Given the description of an element on the screen output the (x, y) to click on. 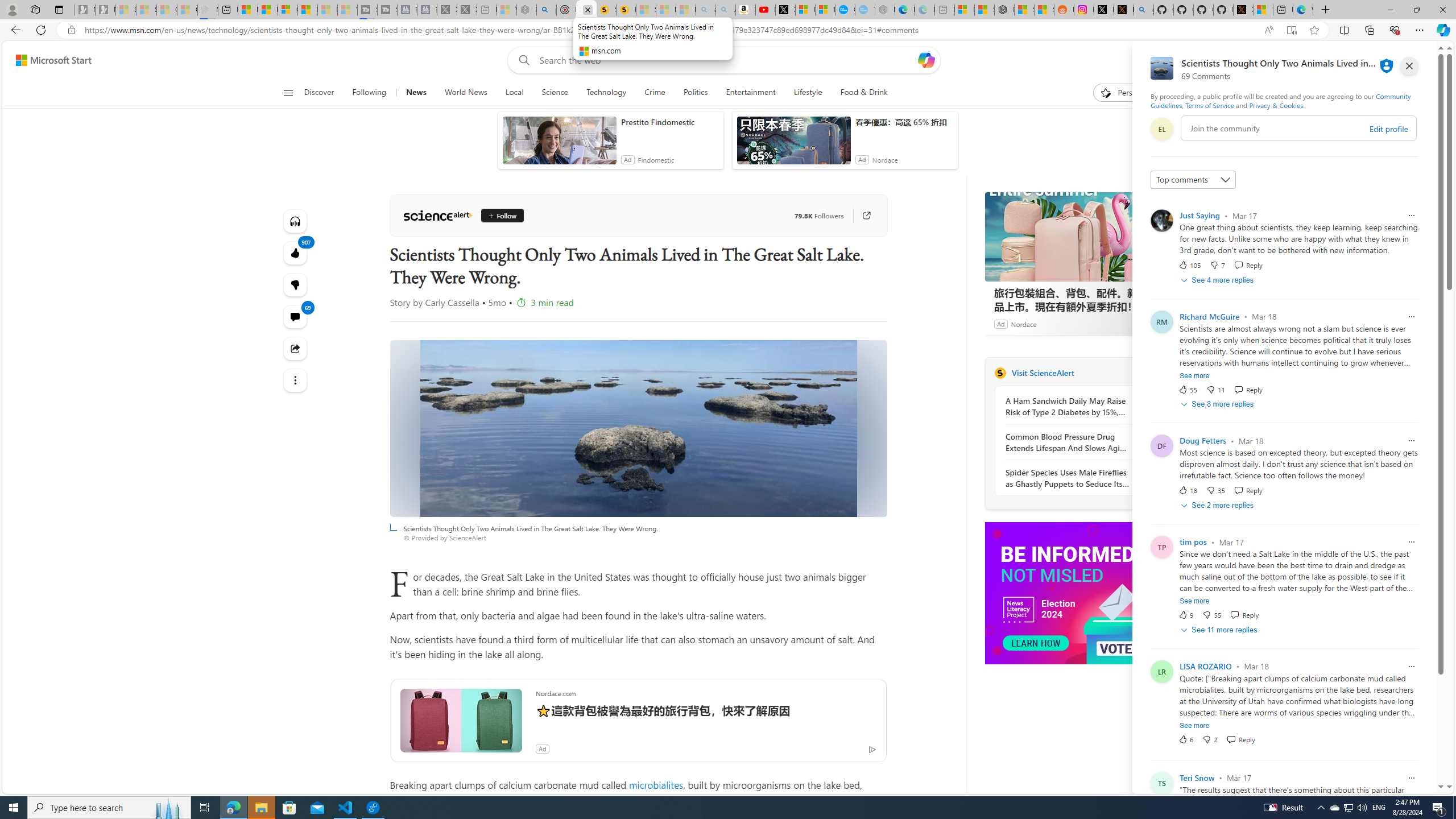
Terms of Service (1209, 104)
github - Search (1143, 9)
Log in to X / X (1103, 9)
Visit ScienceAlert website (1140, 372)
Reply Reply Comment (1240, 739)
See more (1194, 725)
9 Like (1185, 614)
Go to publisher's site (866, 215)
Politics (694, 92)
Personalize (1128, 92)
Newsletter Sign Up - Sleeping (105, 9)
